Given the description of an element on the screen output the (x, y) to click on. 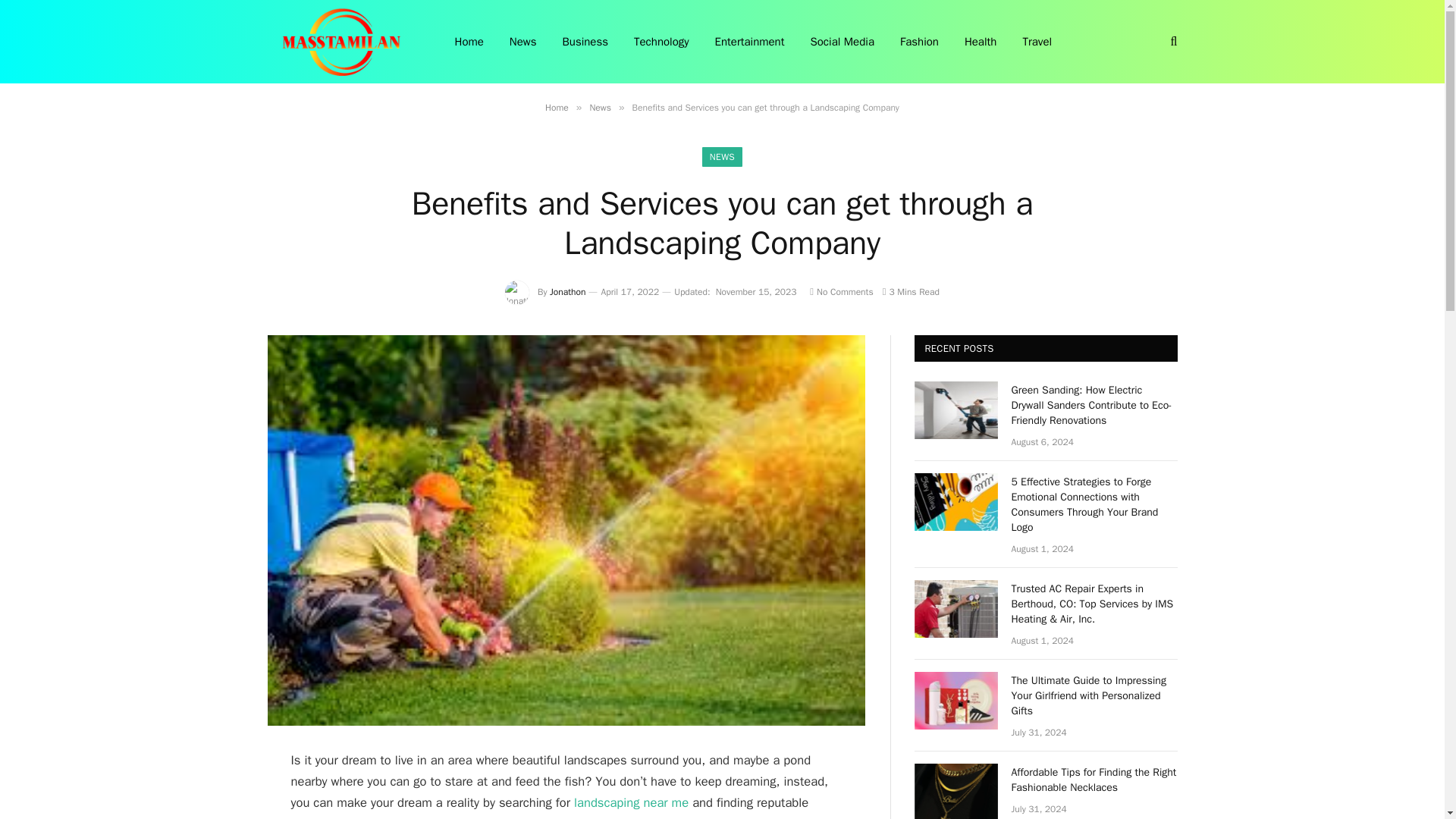
Masstamilan (340, 41)
Jonathon (567, 291)
Affordable Tips for Finding the Right Fashionable Necklaces (955, 791)
Entertainment (749, 41)
Affordable Tips for Finding the Right Fashionable Necklaces (1094, 779)
